Given the description of an element on the screen output the (x, y) to click on. 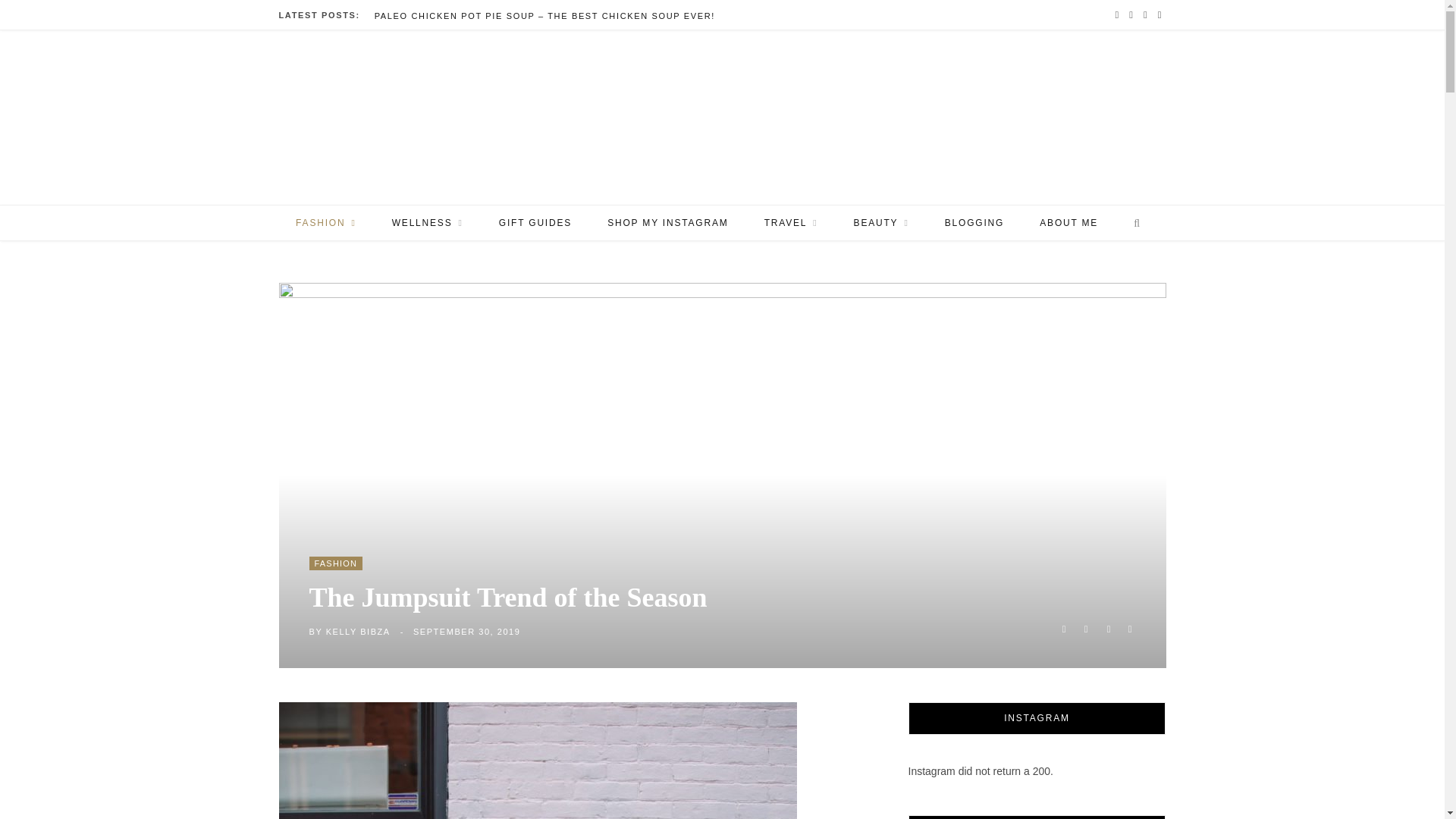
FASHION (325, 222)
WELLNESS (427, 222)
